Given the description of an element on the screen output the (x, y) to click on. 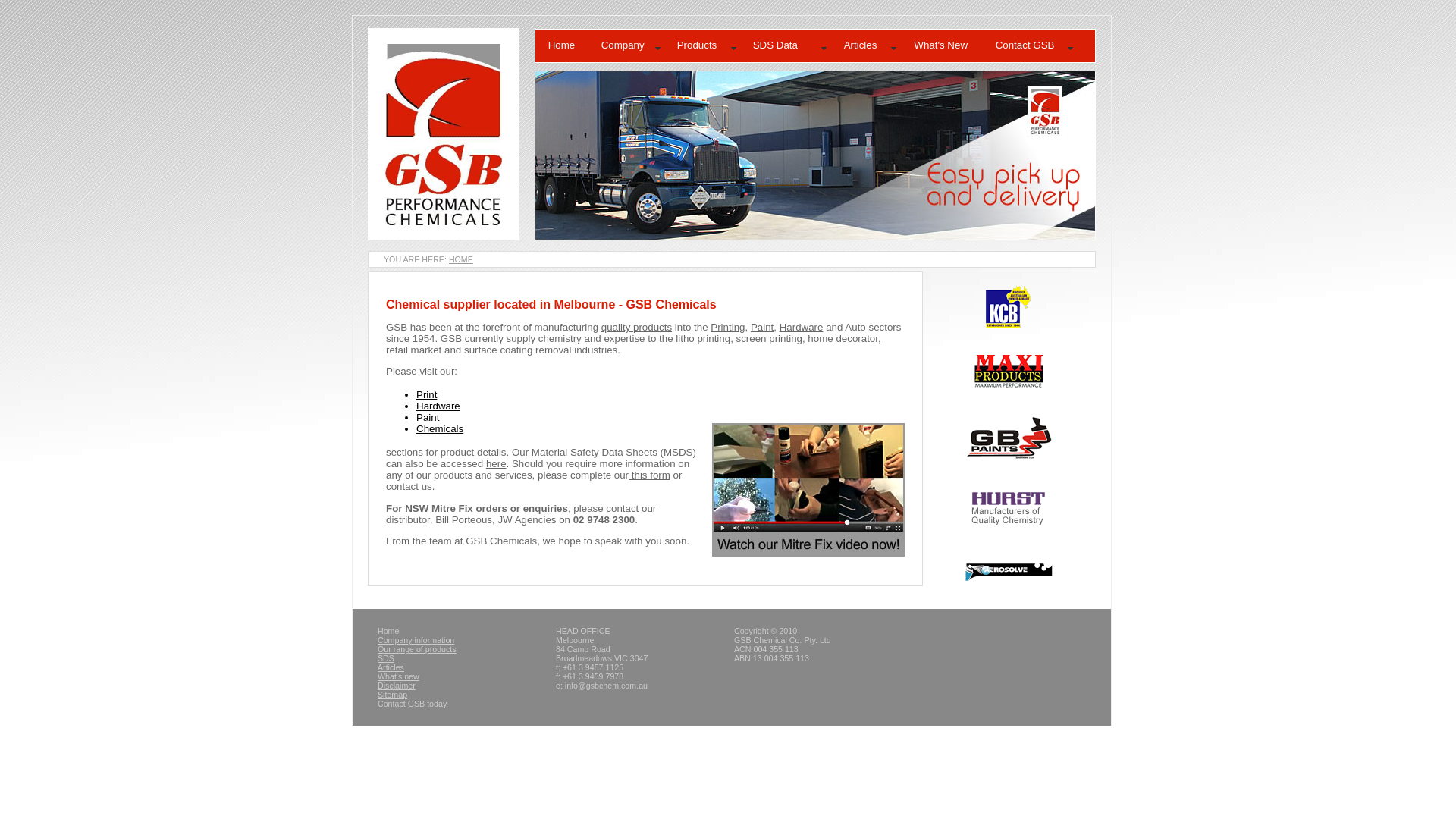
Chemicals Element type: text (439, 428)
Articles Element type: text (390, 666)
Printing Element type: text (727, 326)
What's new Element type: text (398, 675)
Paint Element type: text (427, 417)
here Element type: text (496, 463)
contact us Element type: text (408, 486)
Contact GSB today Element type: text (411, 703)
Articles Element type: text (865, 45)
Hardware Element type: text (438, 405)
Sitemap Element type: text (392, 694)
SDS Data Element type: text (785, 45)
Disclaimer Element type: text (396, 685)
quality products Element type: text (636, 326)
Our range of products Element type: text (416, 648)
What's New Element type: text (944, 45)
Hardware Element type: text (801, 326)
GSB Performance Chemicals Element type: hover (443, 134)
Company Element type: text (626, 45)
this form Element type: text (649, 474)
Paint Element type: text (761, 326)
Print Element type: text (426, 394)
Company information Element type: text (415, 639)
Products Element type: text (702, 45)
HOME Element type: text (460, 258)
Home Element type: text (561, 45)
SDS Element type: text (385, 657)
Home Element type: text (387, 630)
Contact GSB Element type: text (1029, 45)
